Given the description of an element on the screen output the (x, y) to click on. 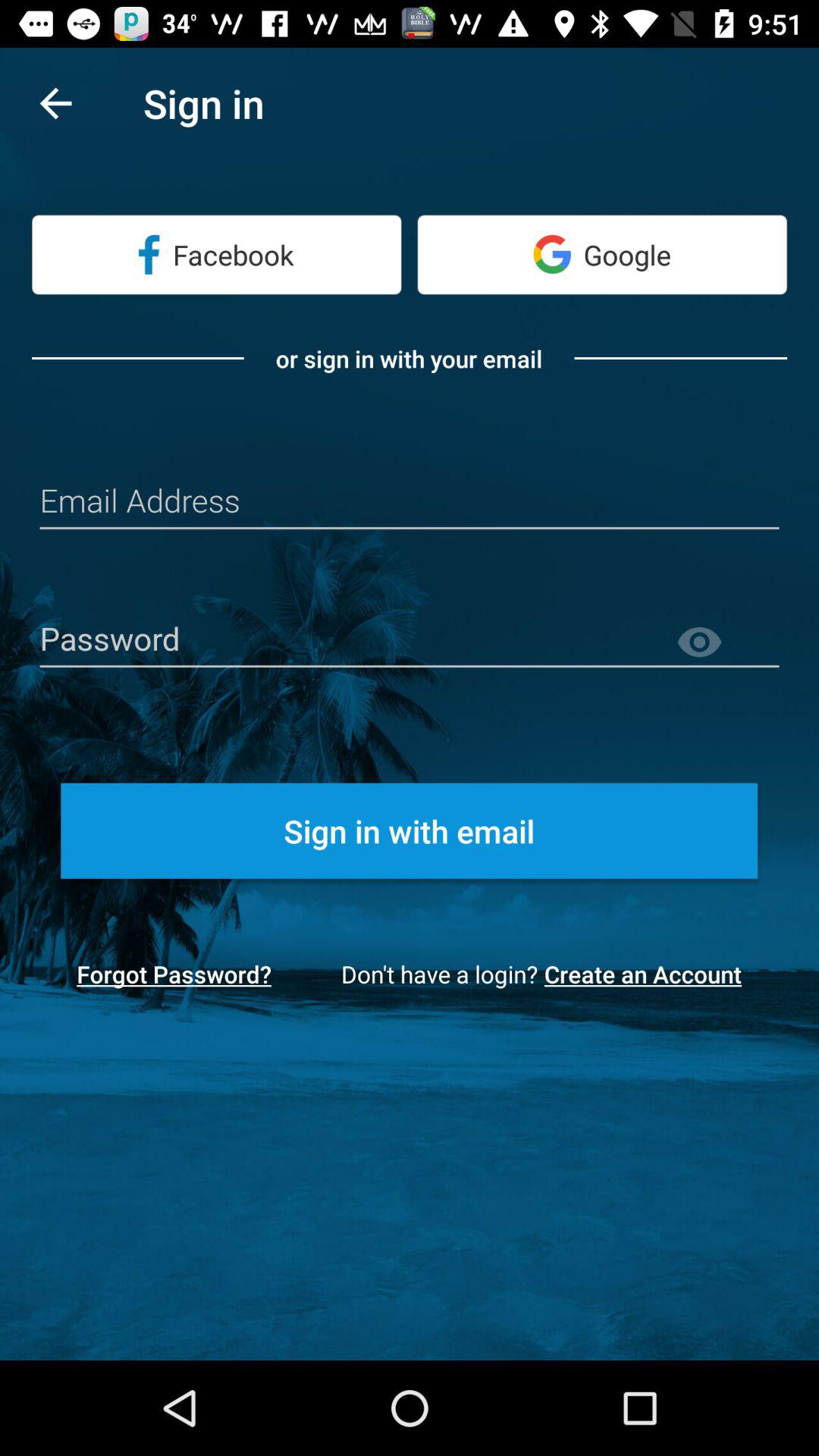
show password (727, 642)
